Given the description of an element on the screen output the (x, y) to click on. 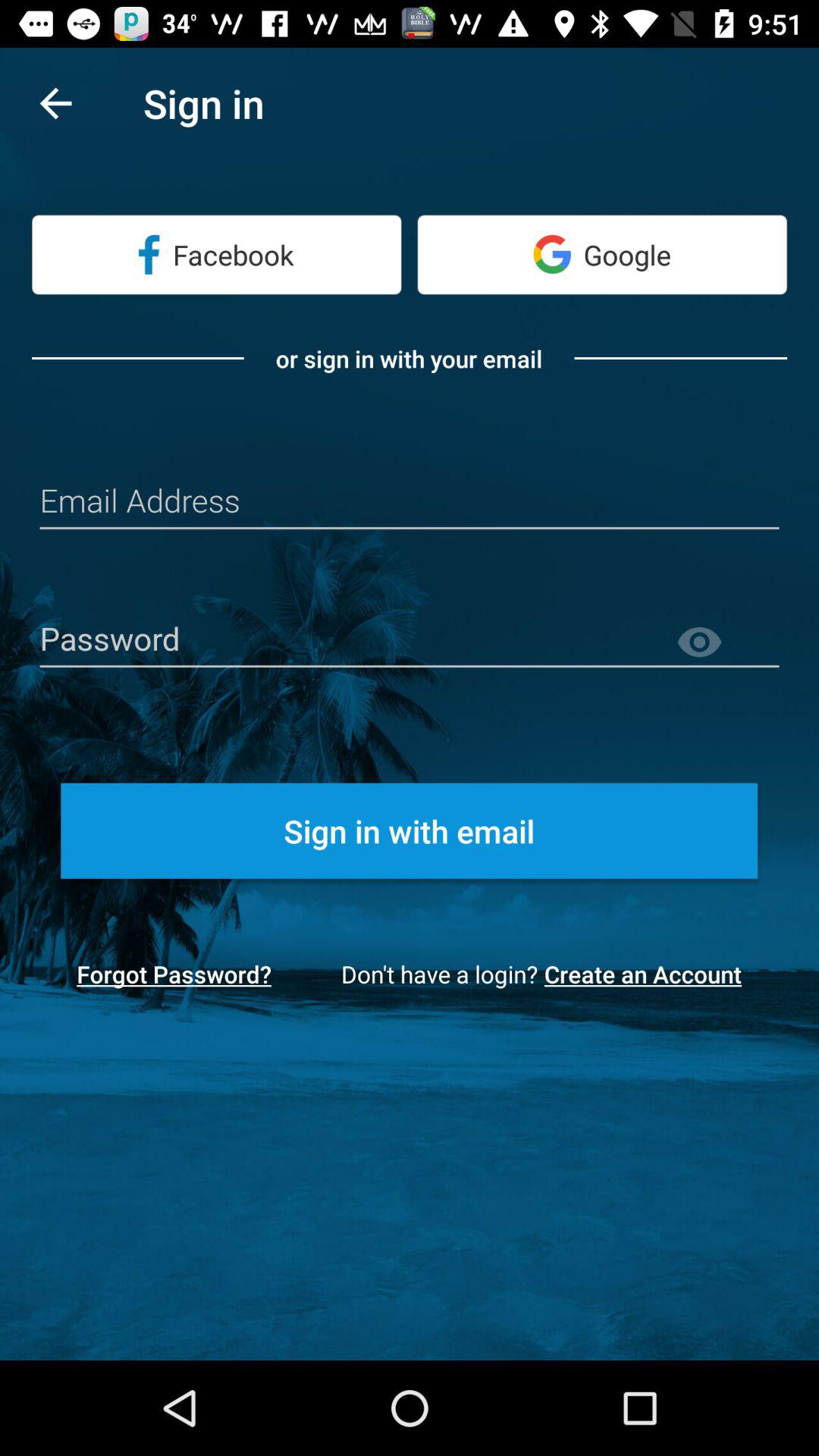
show password (727, 642)
